Given the description of an element on the screen output the (x, y) to click on. 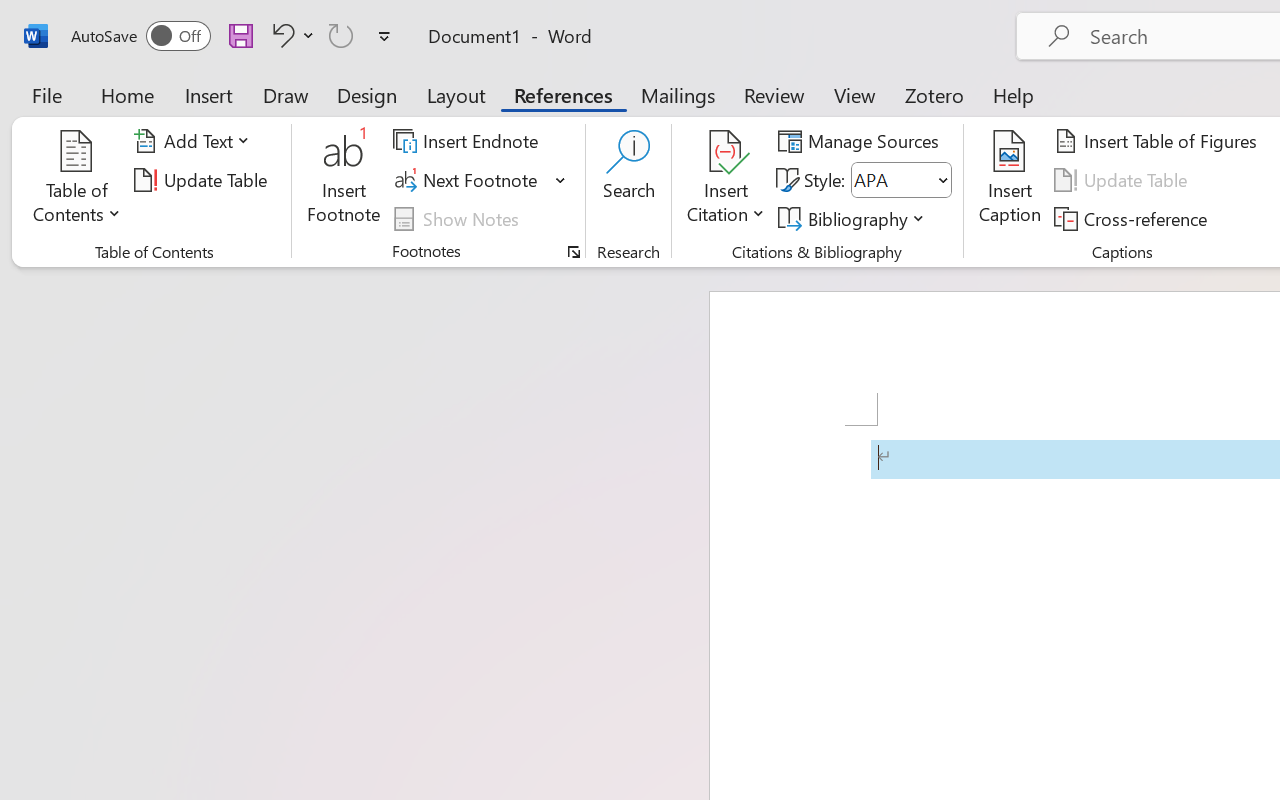
Add Text (195, 141)
Undo Apply Quick Style (280, 35)
Manage Sources... (861, 141)
Insert Endnote (468, 141)
Style (892, 179)
Can't Repeat (341, 35)
Show Notes (459, 218)
Bibliography (854, 218)
